Given the description of an element on the screen output the (x, y) to click on. 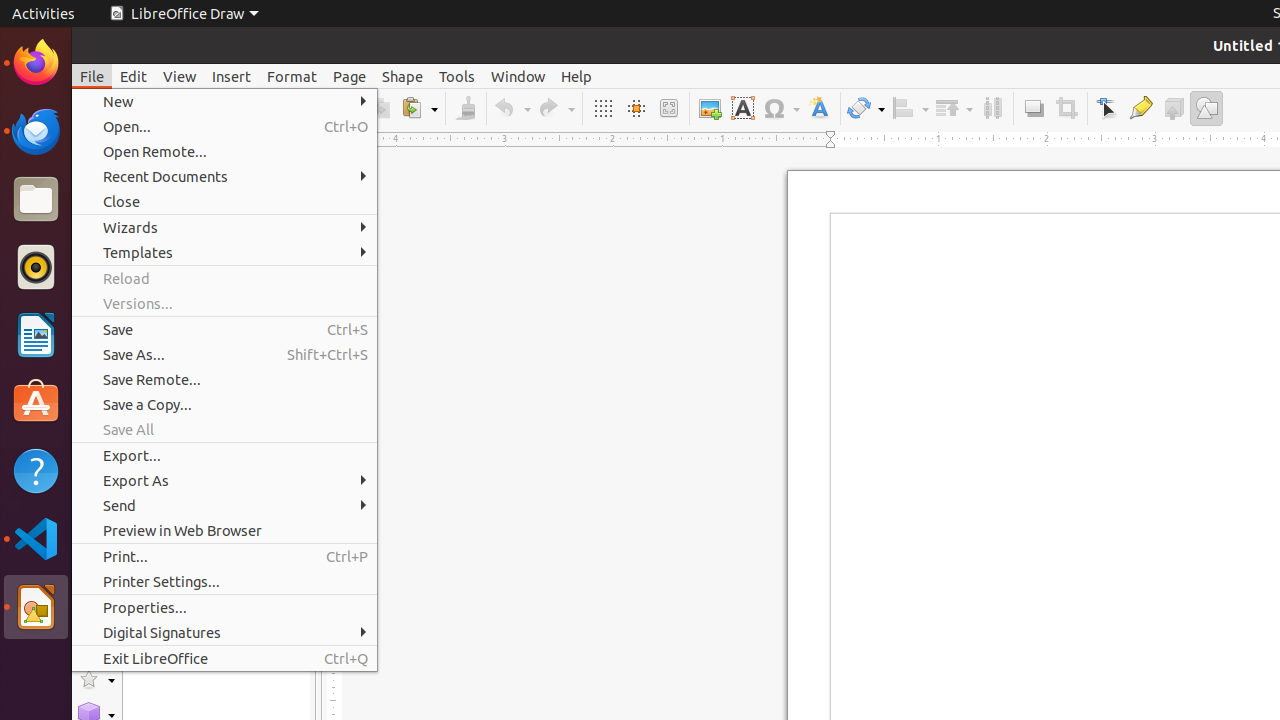
Send Element type: menu (224, 505)
Helplines While Moving Element type: toggle-button (635, 108)
Image Element type: push-button (709, 108)
Glue Points Element type: push-button (1140, 108)
Edit Element type: menu (133, 76)
